Given the description of an element on the screen output the (x, y) to click on. 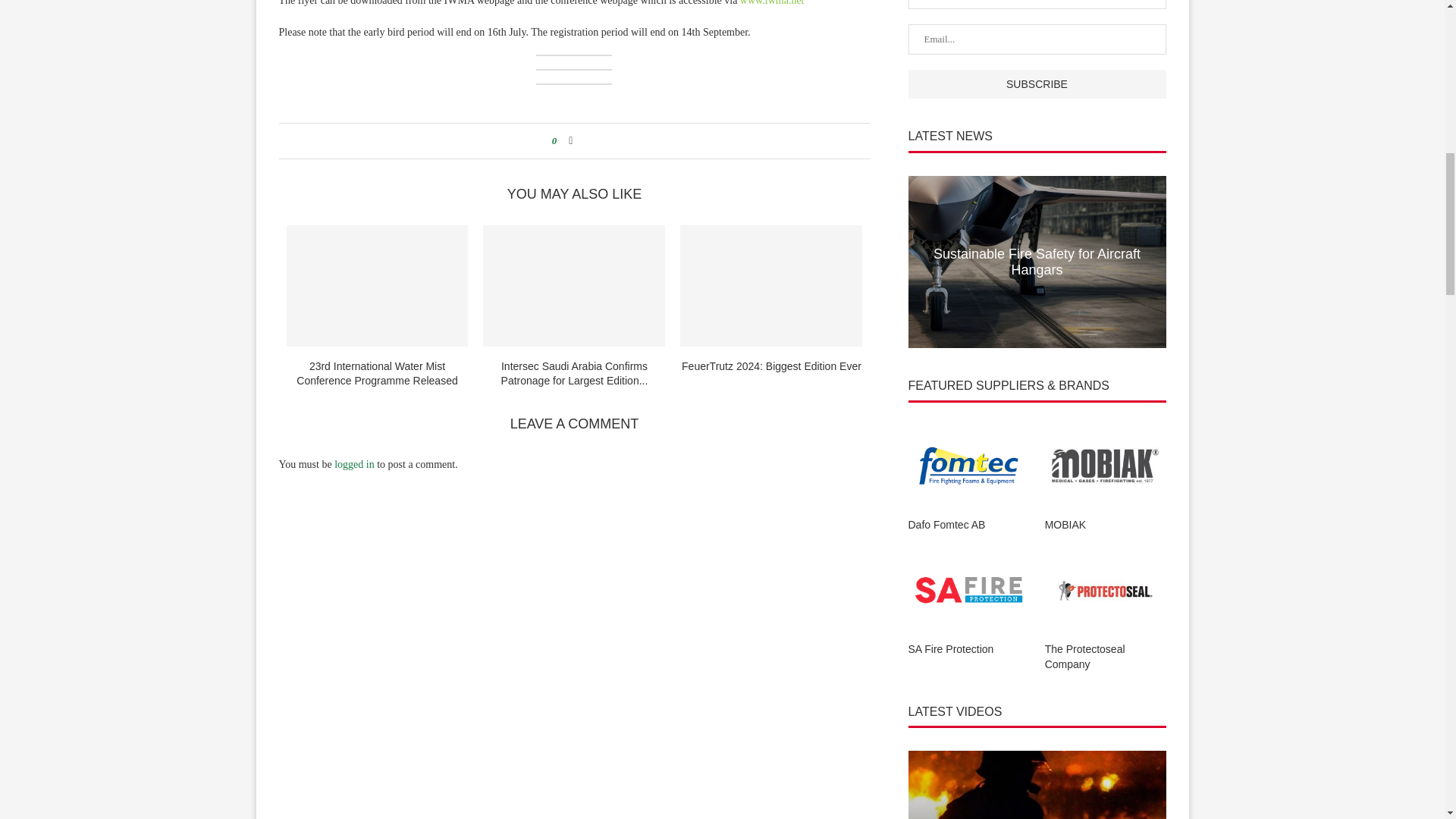
23rd International Water Mist Conference Programme Released (377, 285)
FeuerTrutz 2024: Biggest Edition Ever (770, 285)
Subscribe (1037, 83)
